Given the description of an element on the screen output the (x, y) to click on. 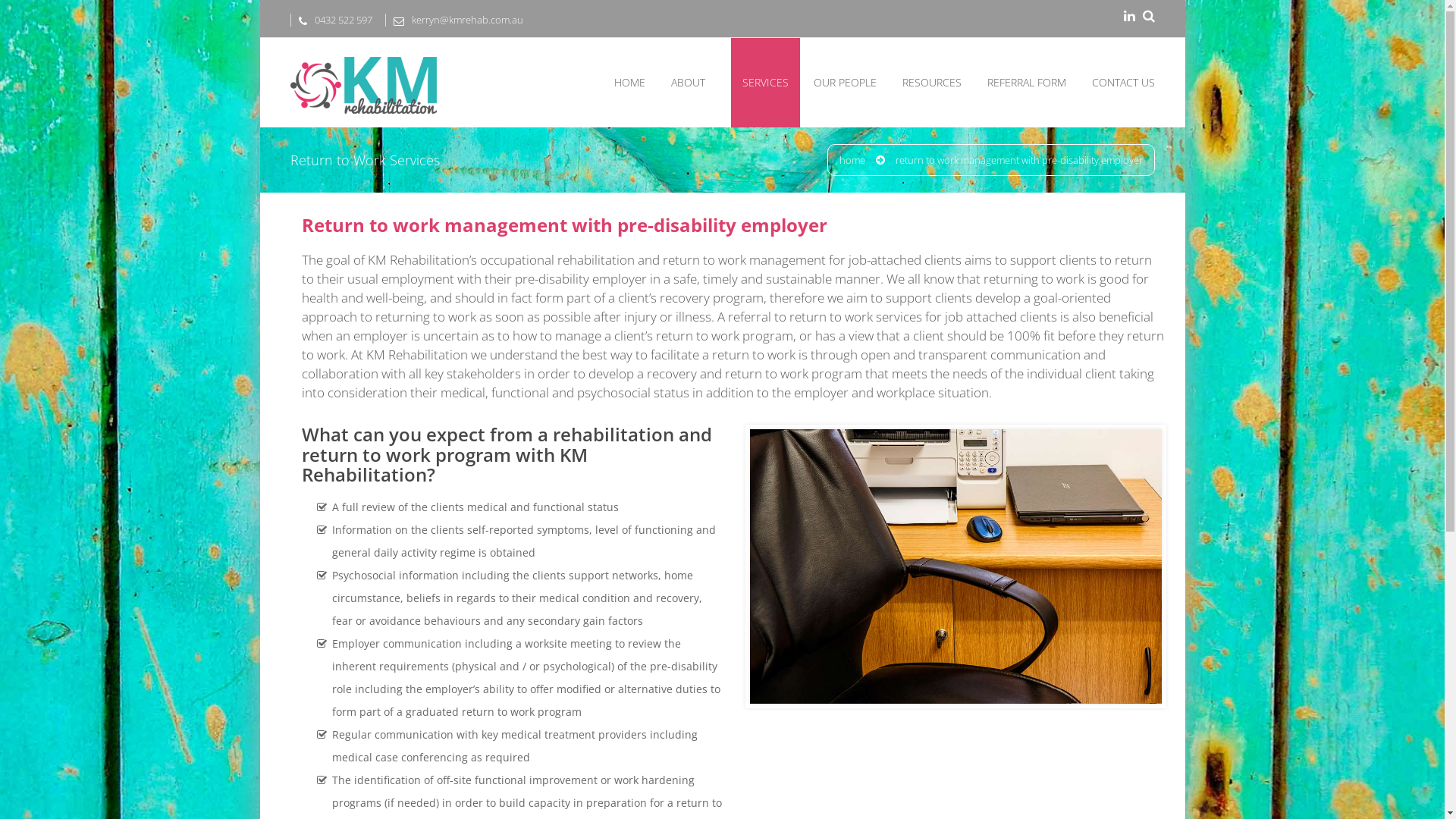
CONTACT US Element type: text (1123, 82)
KM Rehabilitation Element type: hover (363, 56)
SERVICES Element type: text (765, 82)
linked in Element type: hover (1129, 16)
Search the Site Element type: hover (1148, 16)
ABOUT Element type: text (687, 82)
home Element type: text (851, 160)
RESOURCES Element type: text (931, 82)
kerryn@kmrehab.com.au Element type: text (453, 19)
OUR PEOPLE Element type: text (843, 82)
HOME Element type: text (629, 82)
REFERRAL FORM Element type: text (1026, 82)
